Given the description of an element on the screen output the (x, y) to click on. 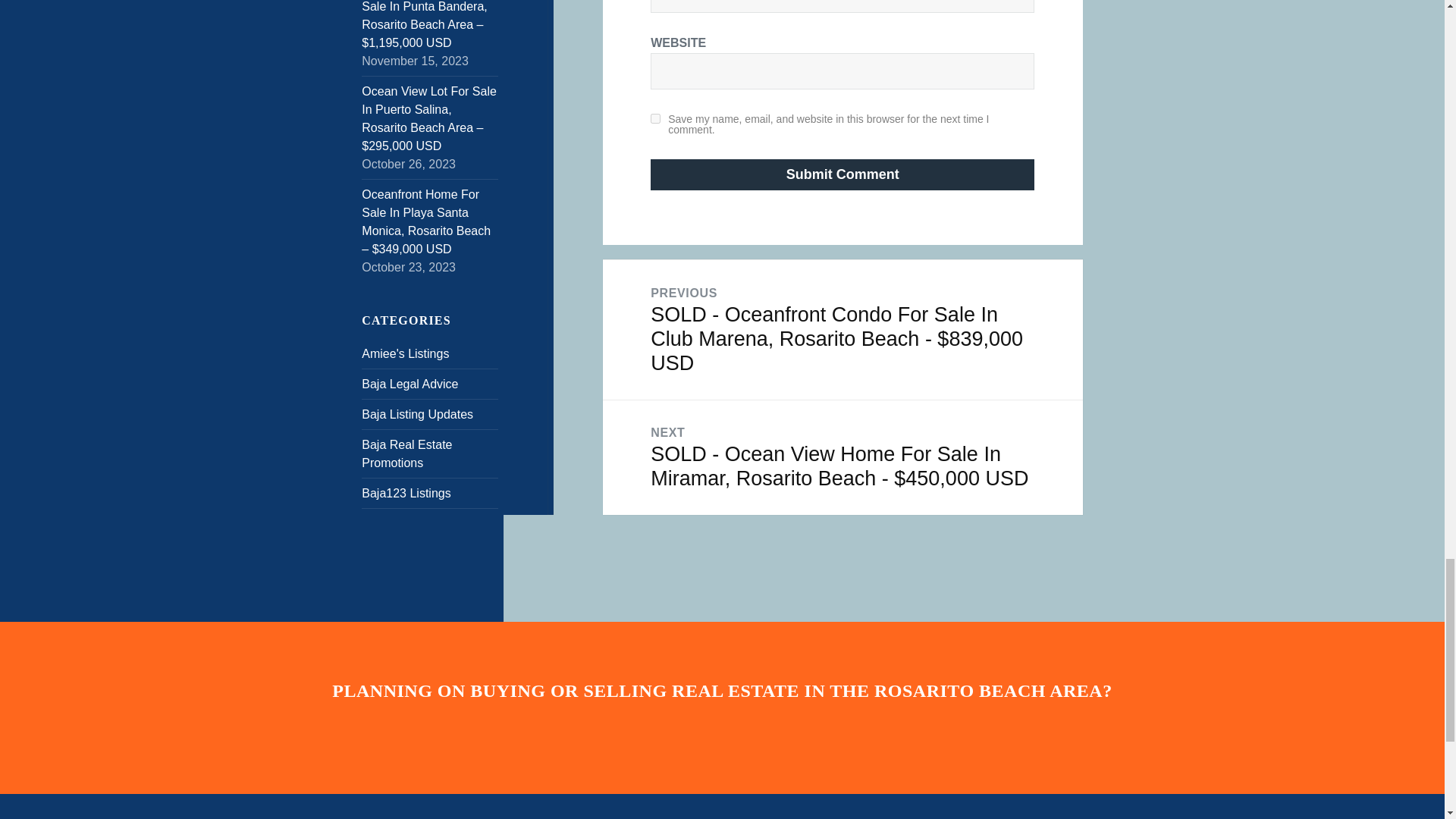
yes (655, 118)
